Given the description of an element on the screen output the (x, y) to click on. 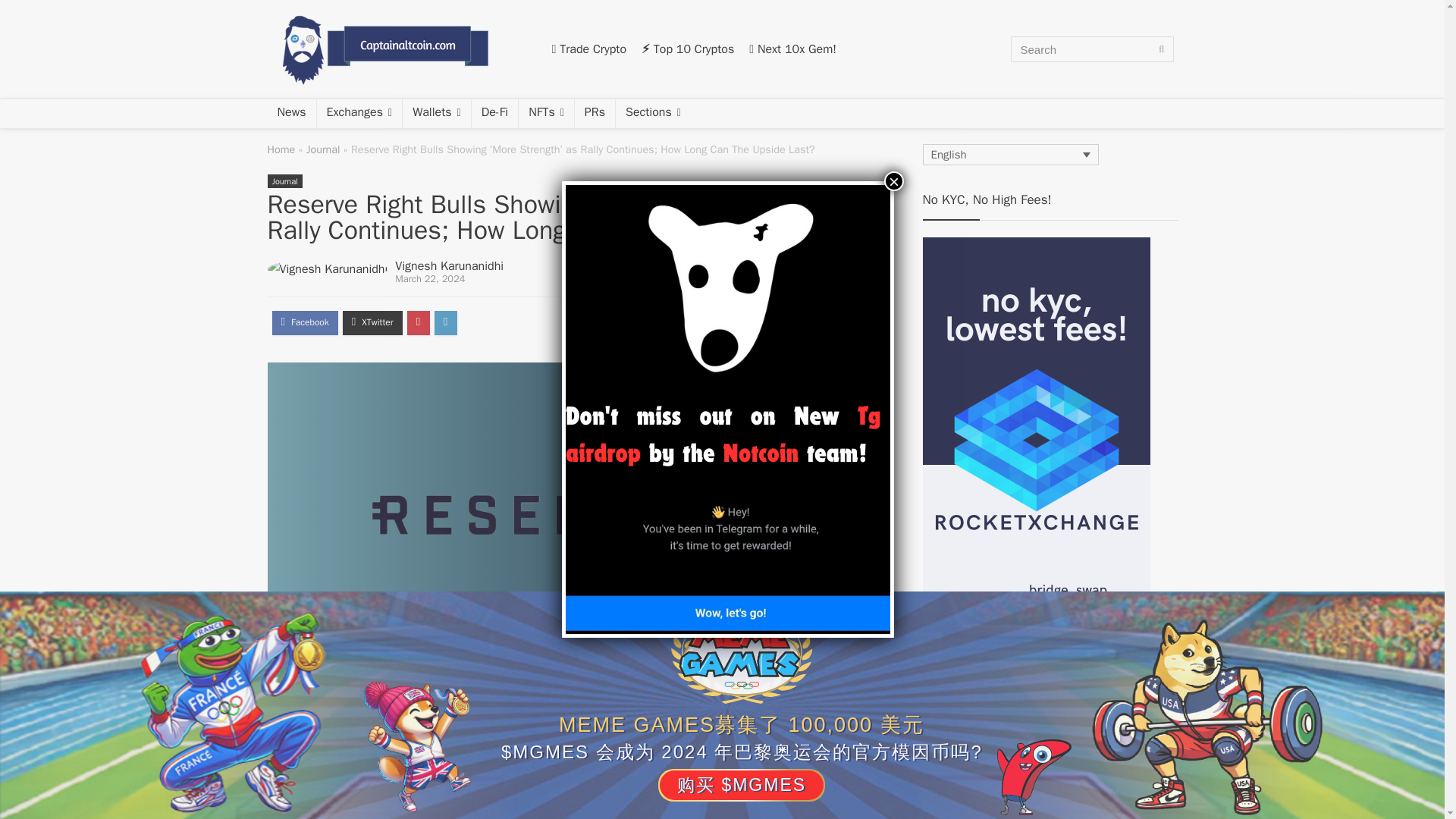
News (290, 113)
Rocketxchange (1035, 244)
Wallets (436, 113)
Binance (589, 48)
View all posts in Journal (283, 181)
Exchanges (360, 113)
